Given the description of an element on the screen output the (x, y) to click on. 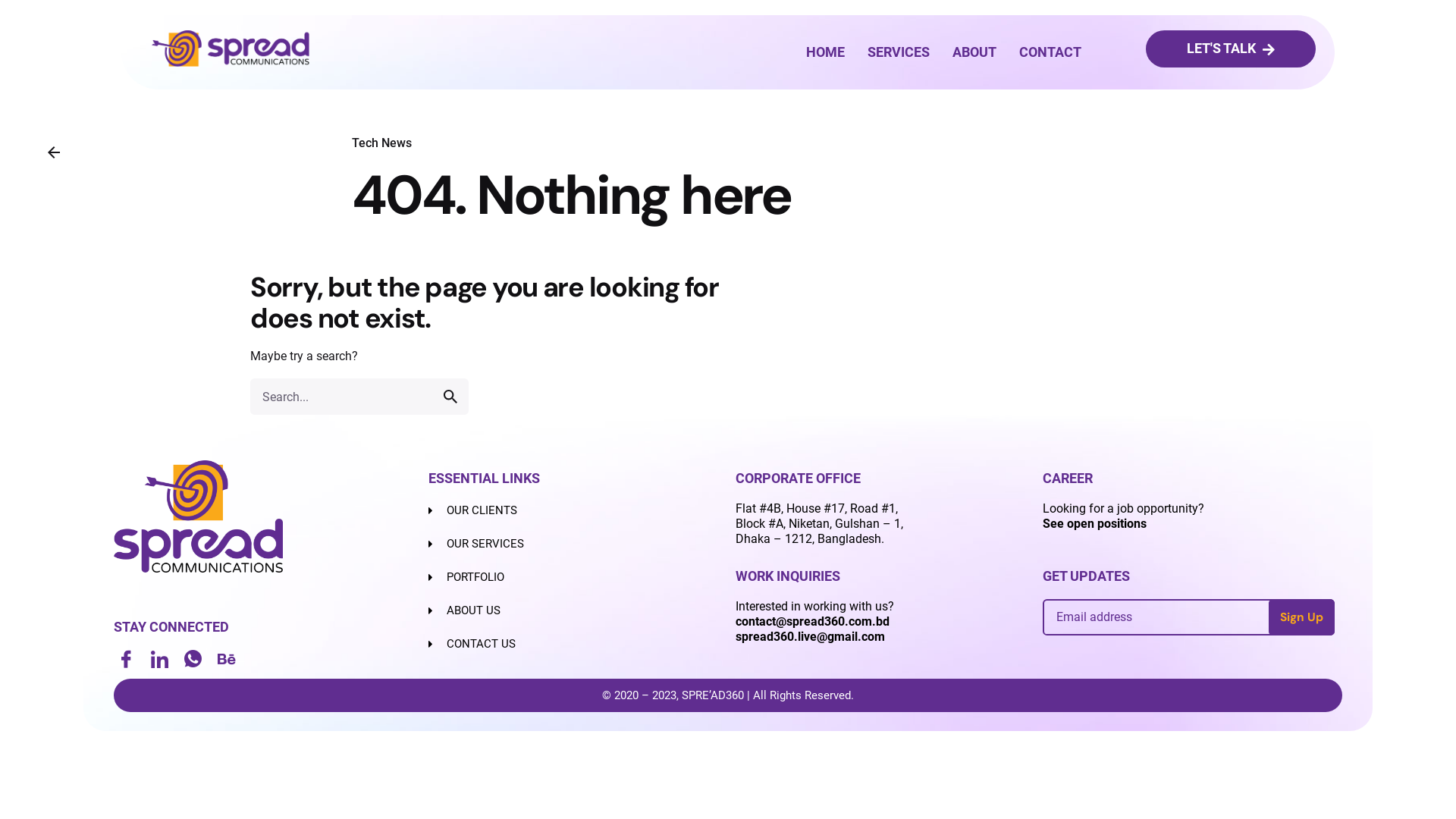
LET'S TALK Element type: text (1230, 48)
ABOUT Element type: text (974, 52)
OUR SERVICES Element type: text (574, 543)
spread360.live@gmail.com Element type: text (809, 636)
OUR CLIENTS Element type: text (574, 510)
contact@spread360.com.bd Element type: text (812, 621)
SERVICES Element type: text (898, 52)
See open positions Element type: text (1094, 523)
ABOUT US Element type: text (574, 610)
HOME Element type: text (825, 52)
Sign Up Element type: text (1301, 617)
CONTACT US Element type: text (574, 643)
Tech News Element type: text (381, 143)
CONTACT Element type: text (1049, 52)
